Given the description of an element on the screen output the (x, y) to click on. 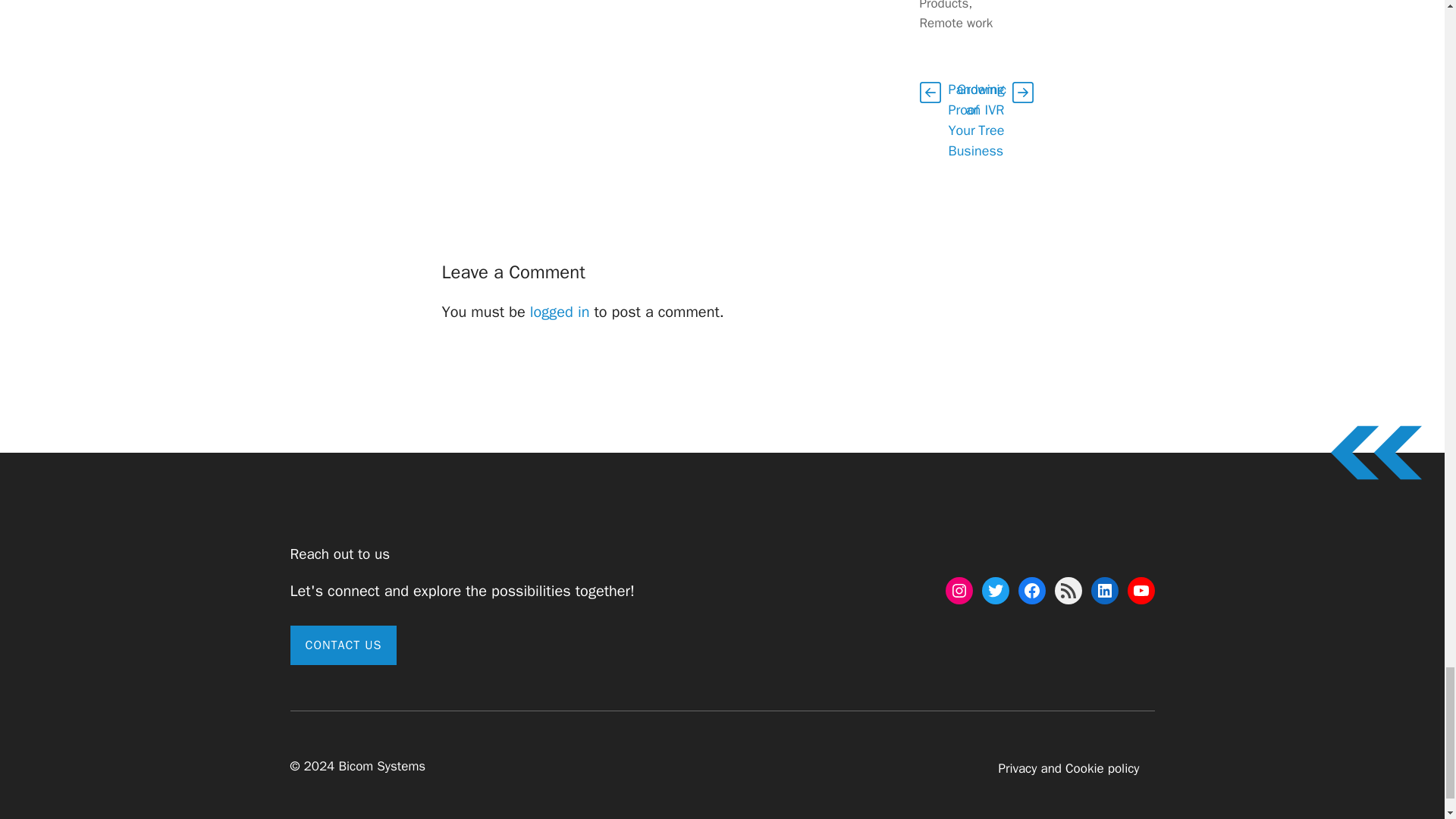
RSS Feed (1067, 590)
CONTACT US (342, 645)
Instagram (958, 590)
logged in (559, 311)
Products (943, 5)
Facebook (1031, 590)
LinkedIn (1104, 590)
YouTube (1140, 590)
Remote work (955, 23)
Twitter (995, 590)
